Given the description of an element on the screen output the (x, y) to click on. 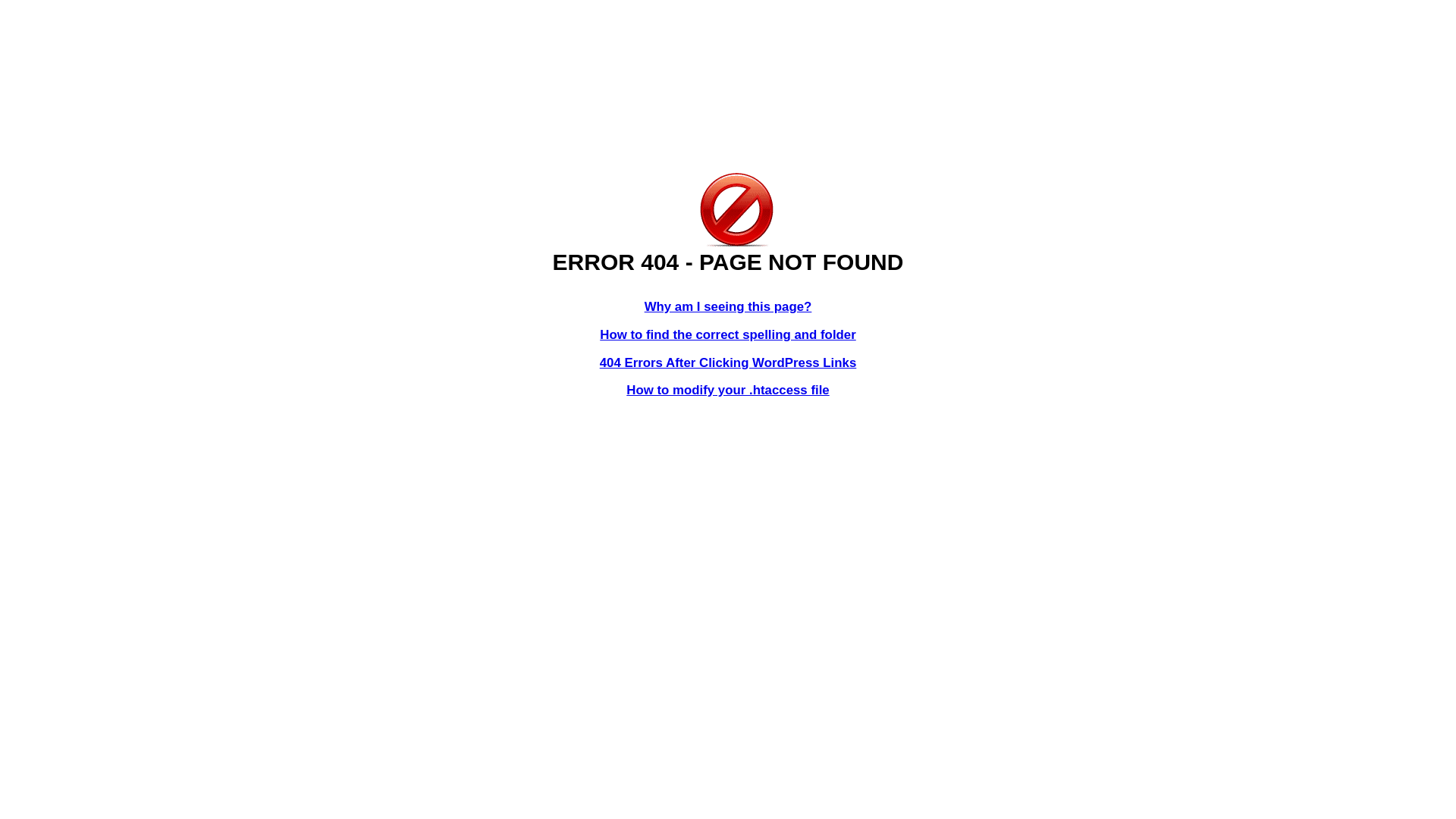
How to find the correct spelling and folder Element type: text (727, 334)
Why am I seeing this page? Element type: text (728, 306)
How to modify your .htaccess file Element type: text (727, 389)
404 Errors After Clicking WordPress Links Element type: text (727, 362)
